Given the description of an element on the screen output the (x, y) to click on. 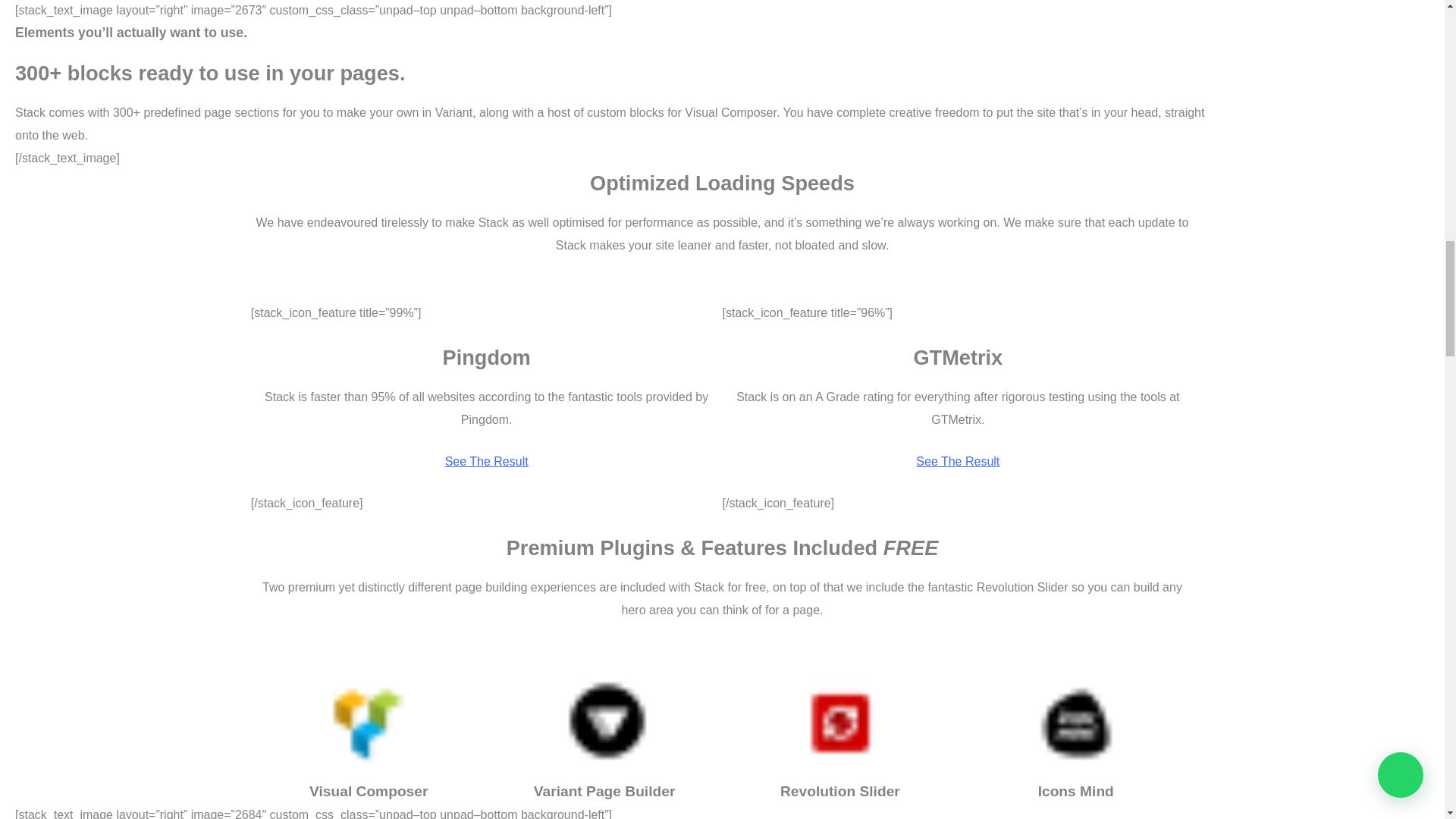
revslider (839, 723)
variant (604, 723)
icons-mind (1075, 723)
vc (368, 723)
